Given the description of an element on the screen output the (x, y) to click on. 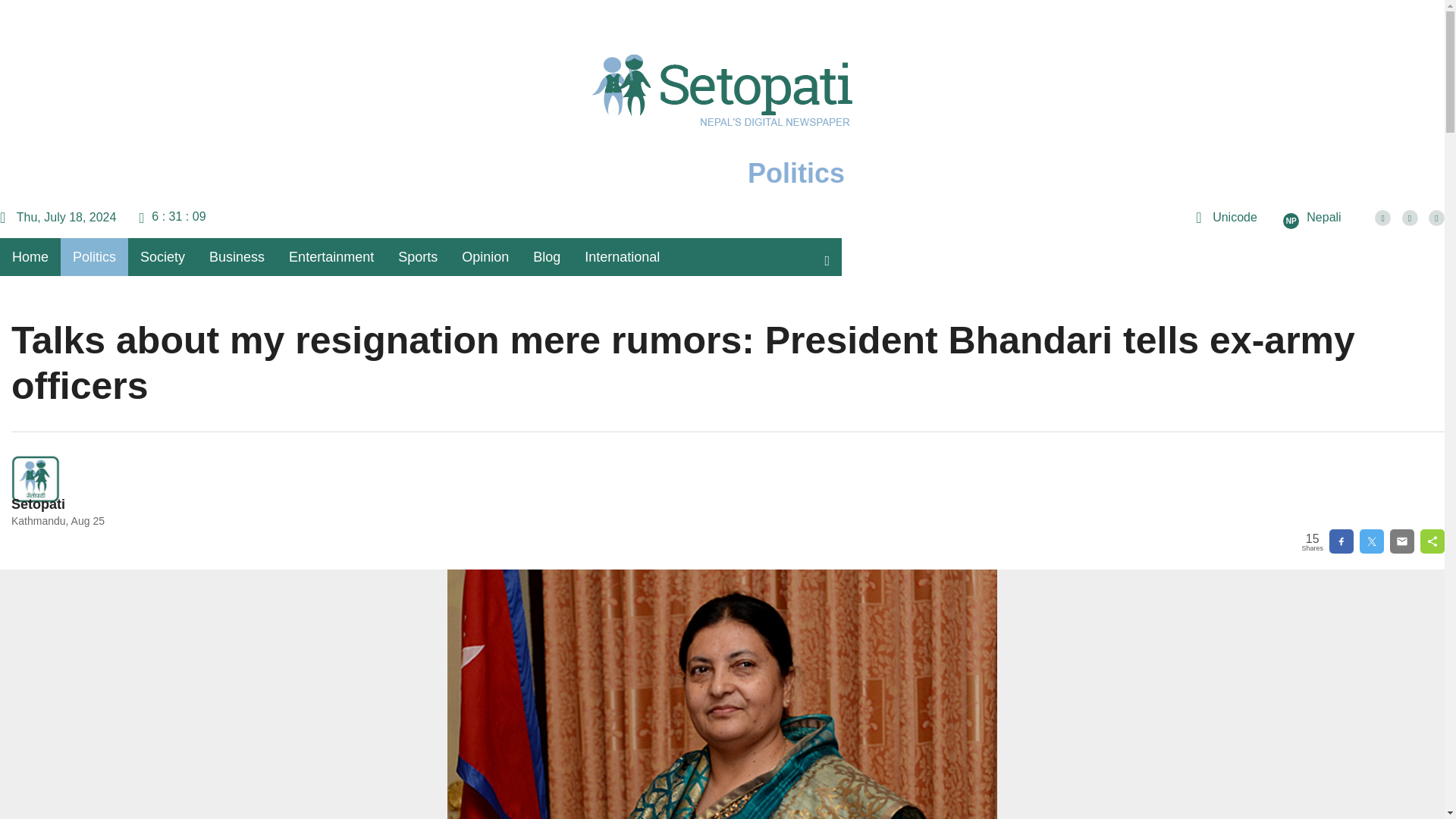
Home (30, 257)
Opinion (485, 257)
Search (826, 257)
International (621, 257)
Society (162, 257)
Follow us on Twitter (1410, 217)
Business (236, 257)
Subscribe YouTube Channel (1436, 217)
Sports (417, 257)
Opinion (485, 257)
Entertainment (330, 257)
Business (236, 257)
Sports (417, 257)
Setopati (38, 503)
Politics (721, 115)
